Given the description of an element on the screen output the (x, y) to click on. 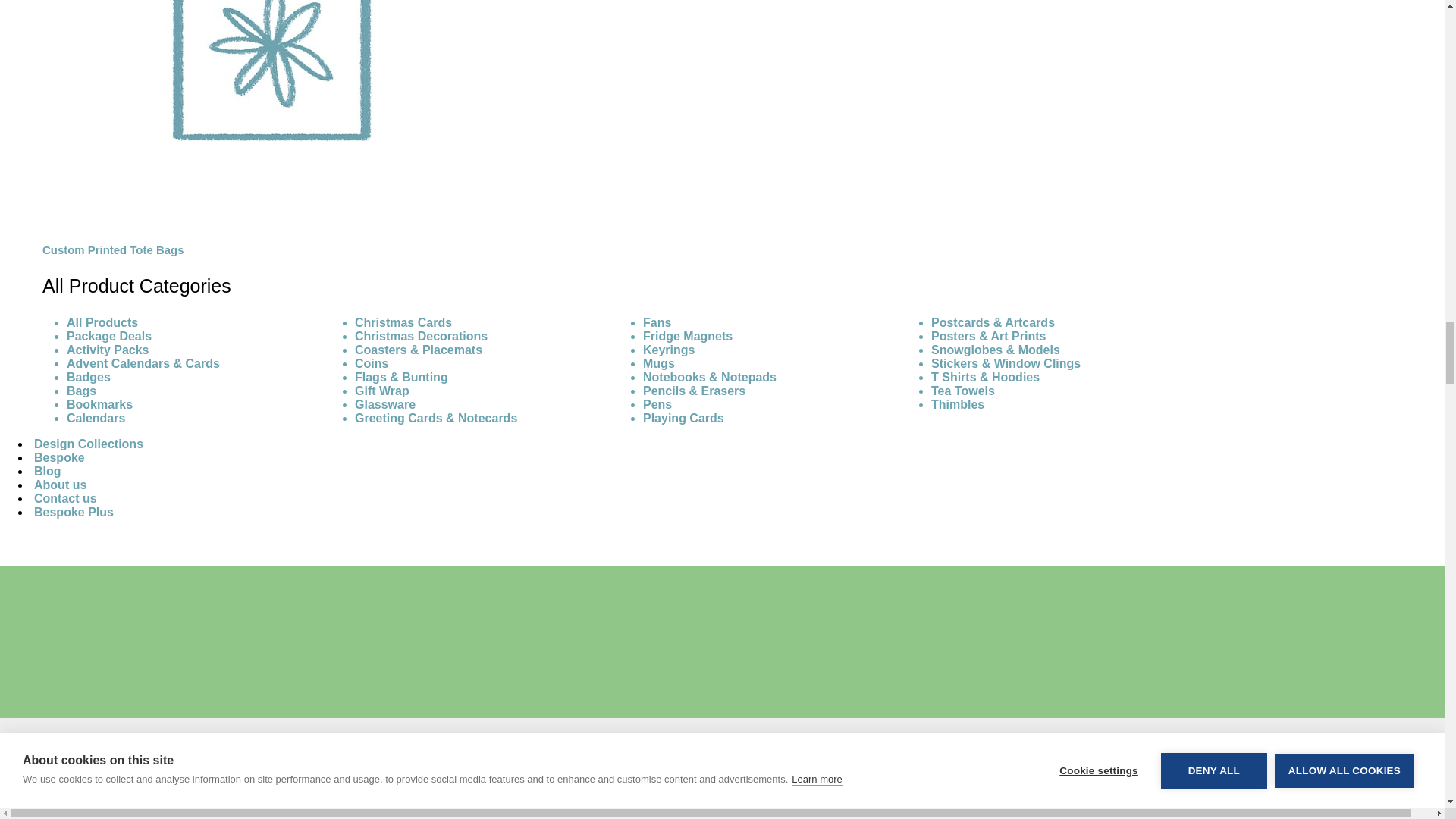
About us (60, 485)
Package Deals (108, 336)
All Products (102, 322)
Bags (81, 390)
Activity Packs (107, 349)
Bespoke Plus (73, 512)
Badges (88, 377)
Bookmarks (99, 404)
Calendars (95, 418)
Design Collections (88, 444)
Blog (47, 471)
Contact us (65, 498)
Bespoke (59, 457)
